Given the description of an element on the screen output the (x, y) to click on. 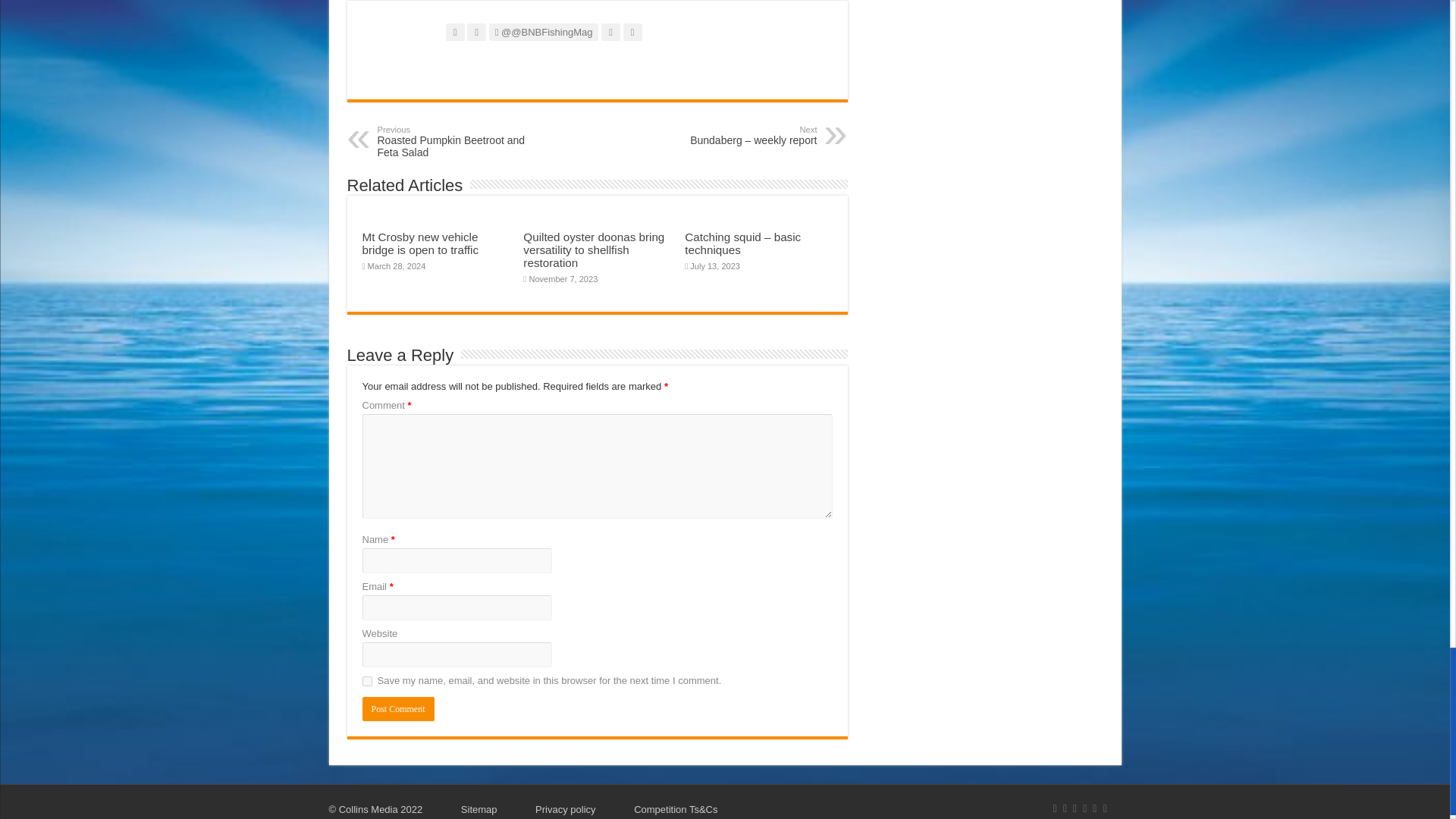
Post Comment (397, 708)
yes (367, 681)
